Given the description of an element on the screen output the (x, y) to click on. 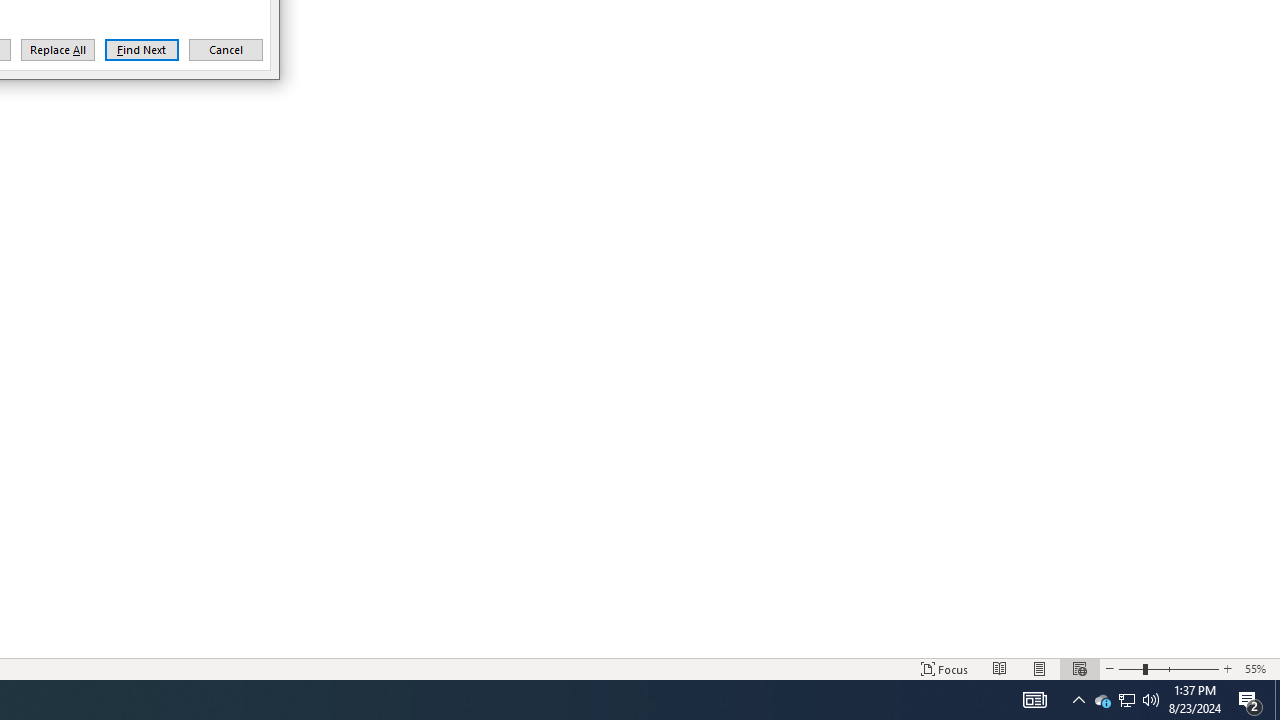
Find Next (141, 49)
Action Center, 2 new notifications (1126, 699)
Cancel (1250, 699)
Show desktop (225, 49)
Zoom 55% (1277, 699)
AutomationID: 4105 (1258, 668)
Replace All (1034, 699)
Notification Chevron (58, 49)
